Given the description of an element on the screen output the (x, y) to click on. 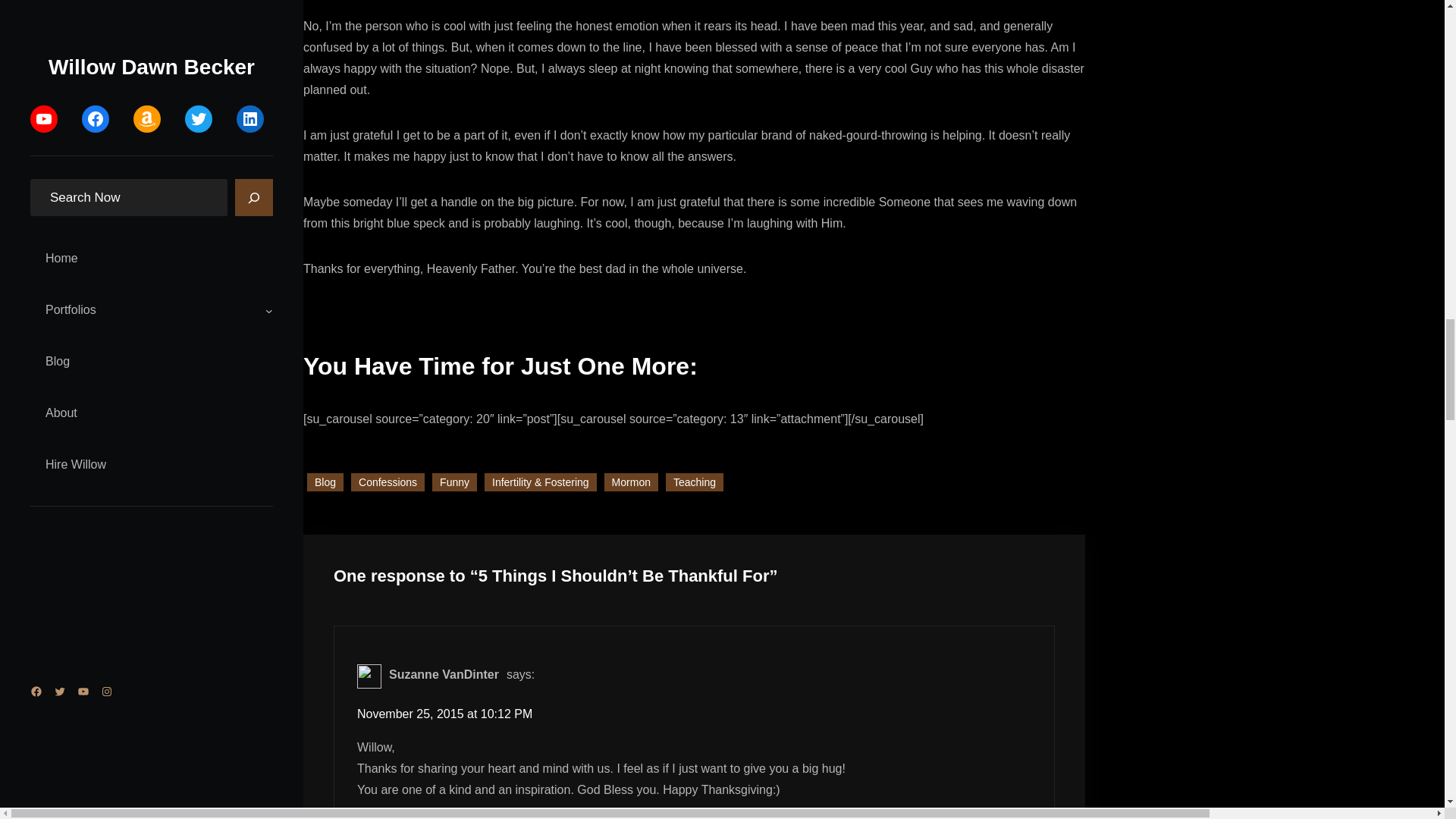
November 25, 2015 at 10:12 PM (444, 713)
Mormon (631, 482)
Funny (454, 482)
Confessions (387, 485)
Teaching (694, 482)
Blog (325, 490)
